Given the description of an element on the screen output the (x, y) to click on. 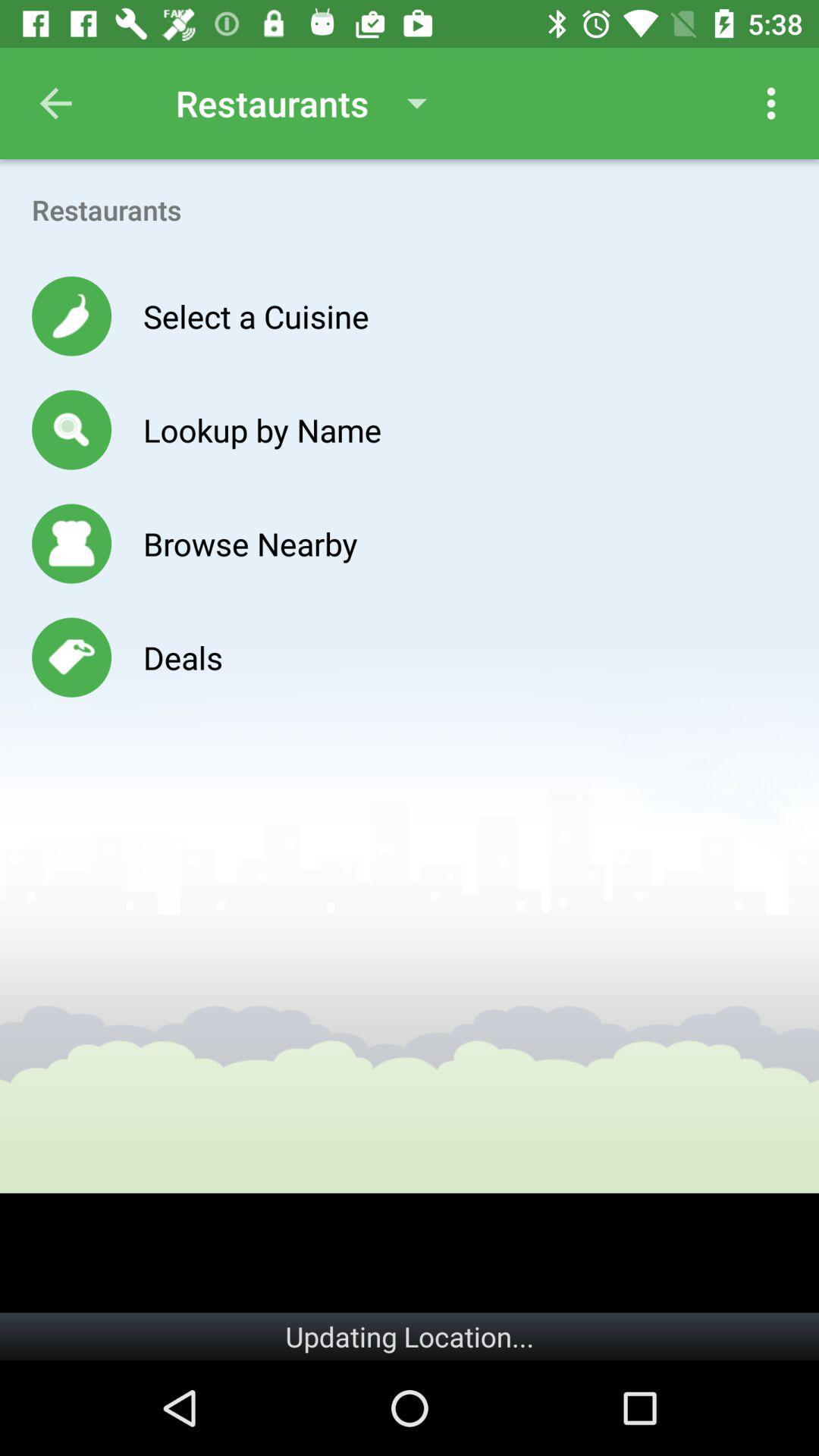
choose the item next to restaurants item (55, 103)
